Given the description of an element on the screen output the (x, y) to click on. 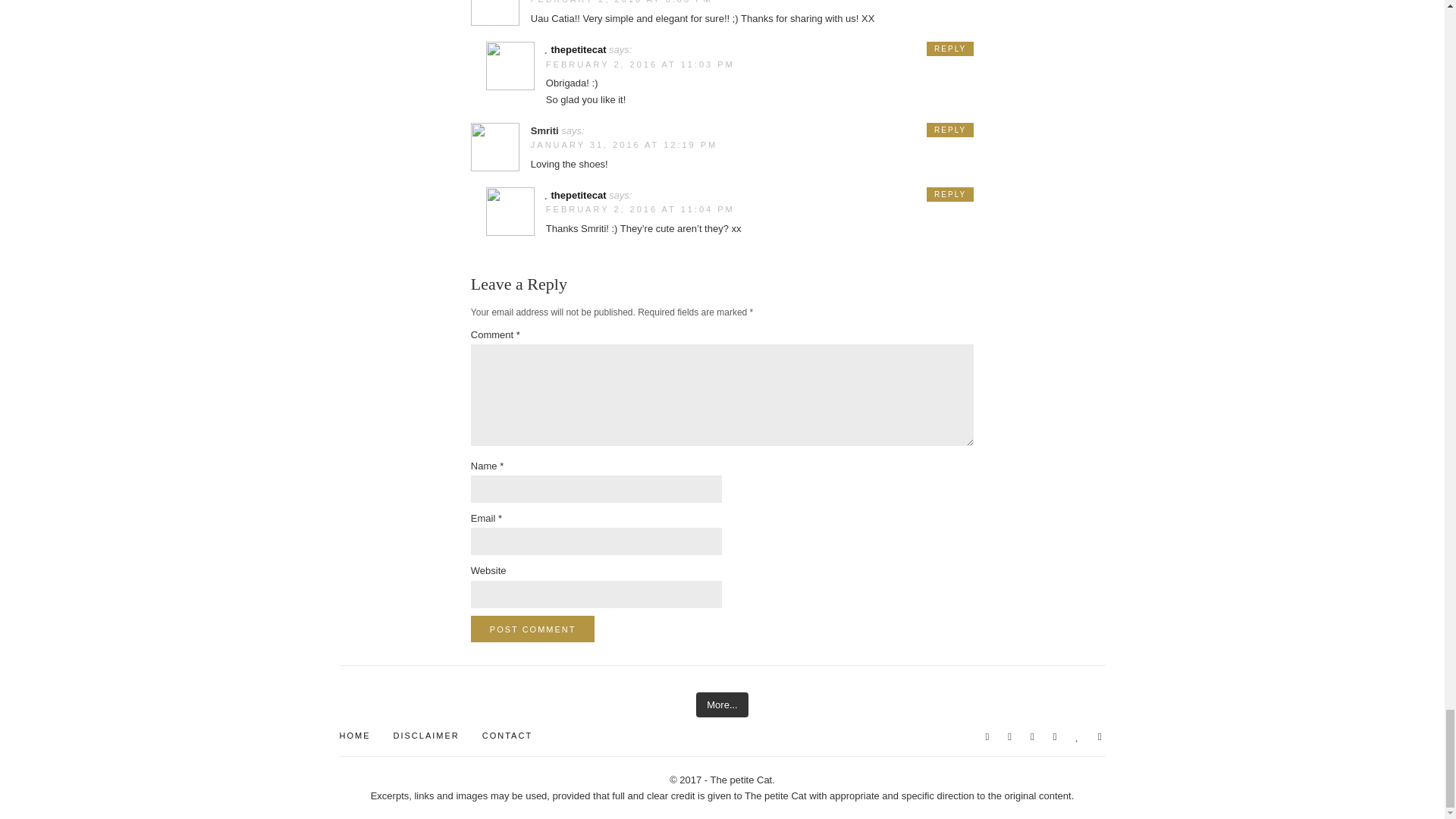
Post Comment (532, 628)
